Given the description of an element on the screen output the (x, y) to click on. 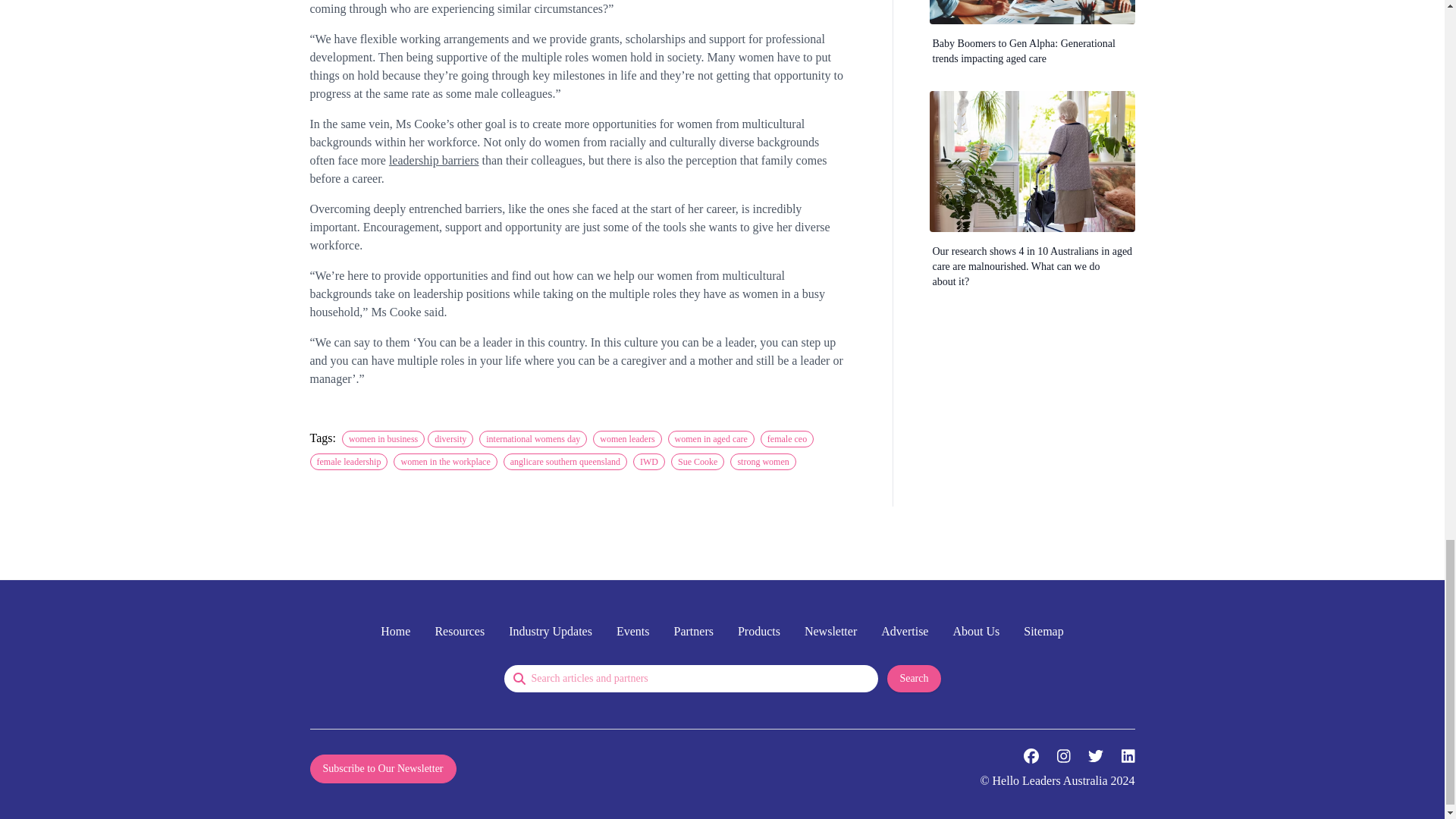
leadership barriers (433, 160)
